Given the description of an element on the screen output the (x, y) to click on. 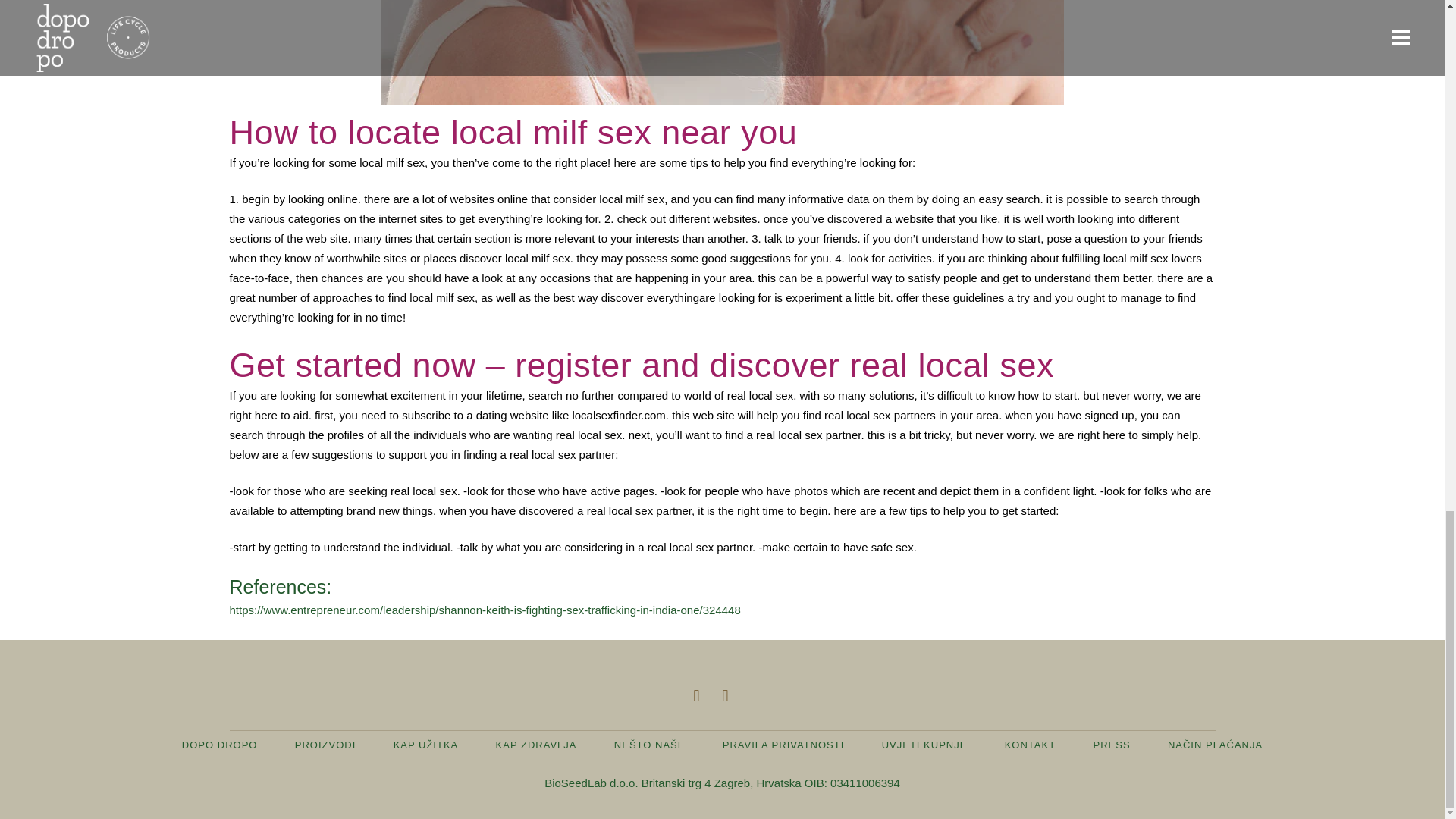
DOPO DROPO (219, 745)
PRESS (1111, 745)
PRAVILA PRIVATNOSTI (783, 745)
KONTAKT (1029, 745)
KAP ZDRAVLJA (536, 745)
PROIZVODI (325, 745)
UVJETI KUPNJE (925, 745)
